Given the description of an element on the screen output the (x, y) to click on. 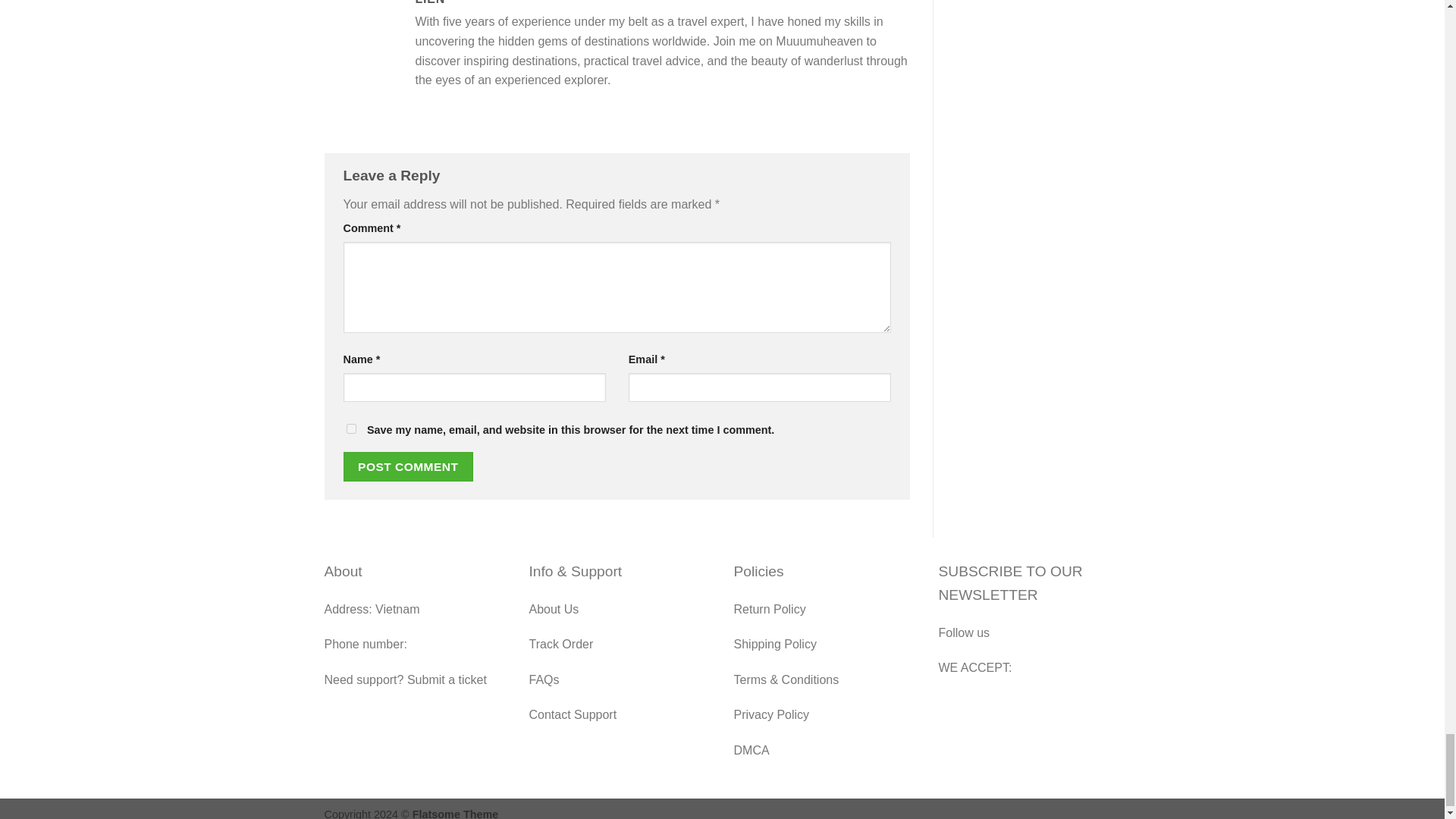
Post Comment (407, 466)
yes (350, 429)
